Given the description of an element on the screen output the (x, y) to click on. 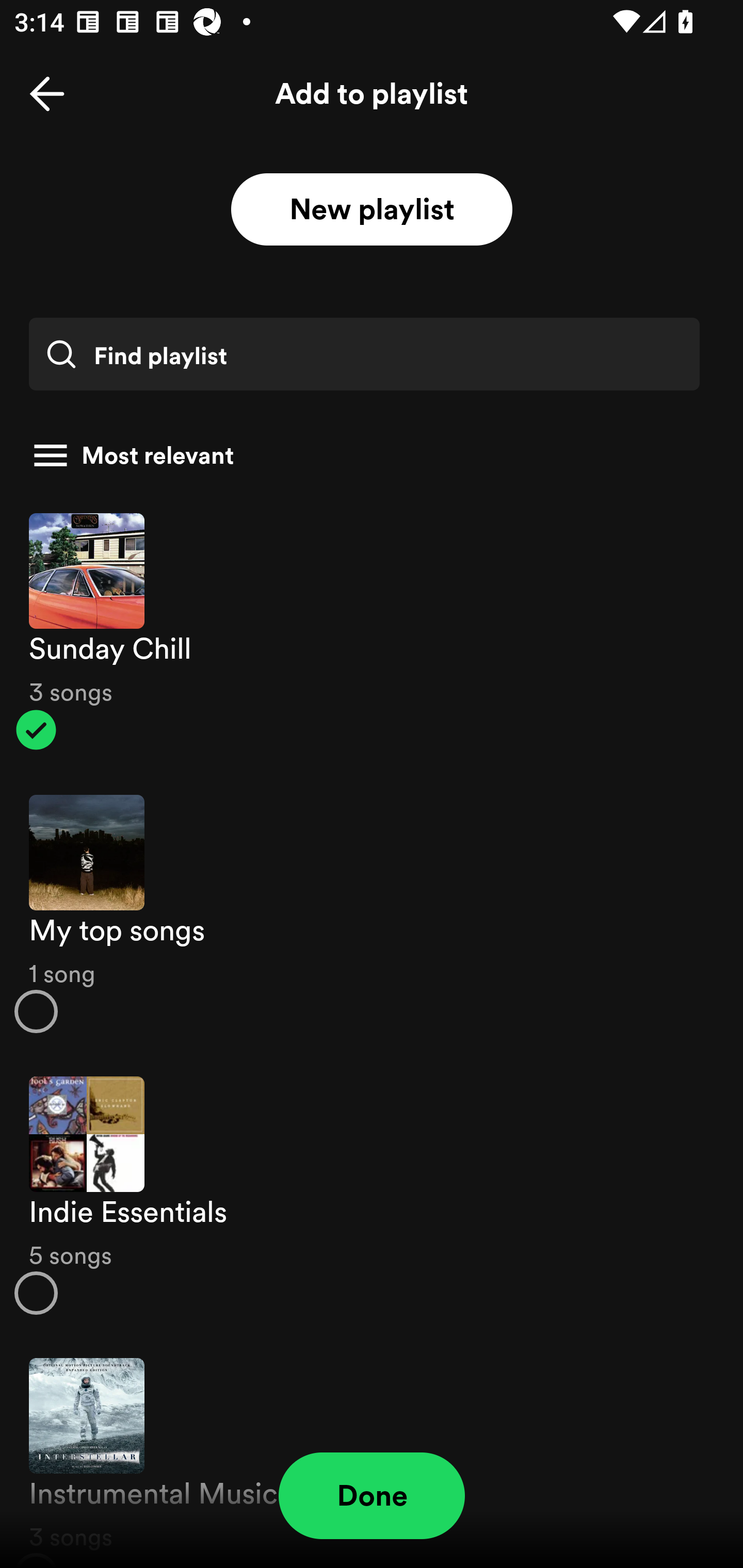
Back (46, 93)
New playlist (371, 210)
Find playlist (363, 354)
Most relevant (363, 455)
Sunday Chill 3 songs (371, 631)
My top songs 1 song (371, 914)
Indie Essentials 5 songs (371, 1195)
Instrumental Music 3 songs (371, 1451)
Done (371, 1495)
